Given the description of an element on the screen output the (x, y) to click on. 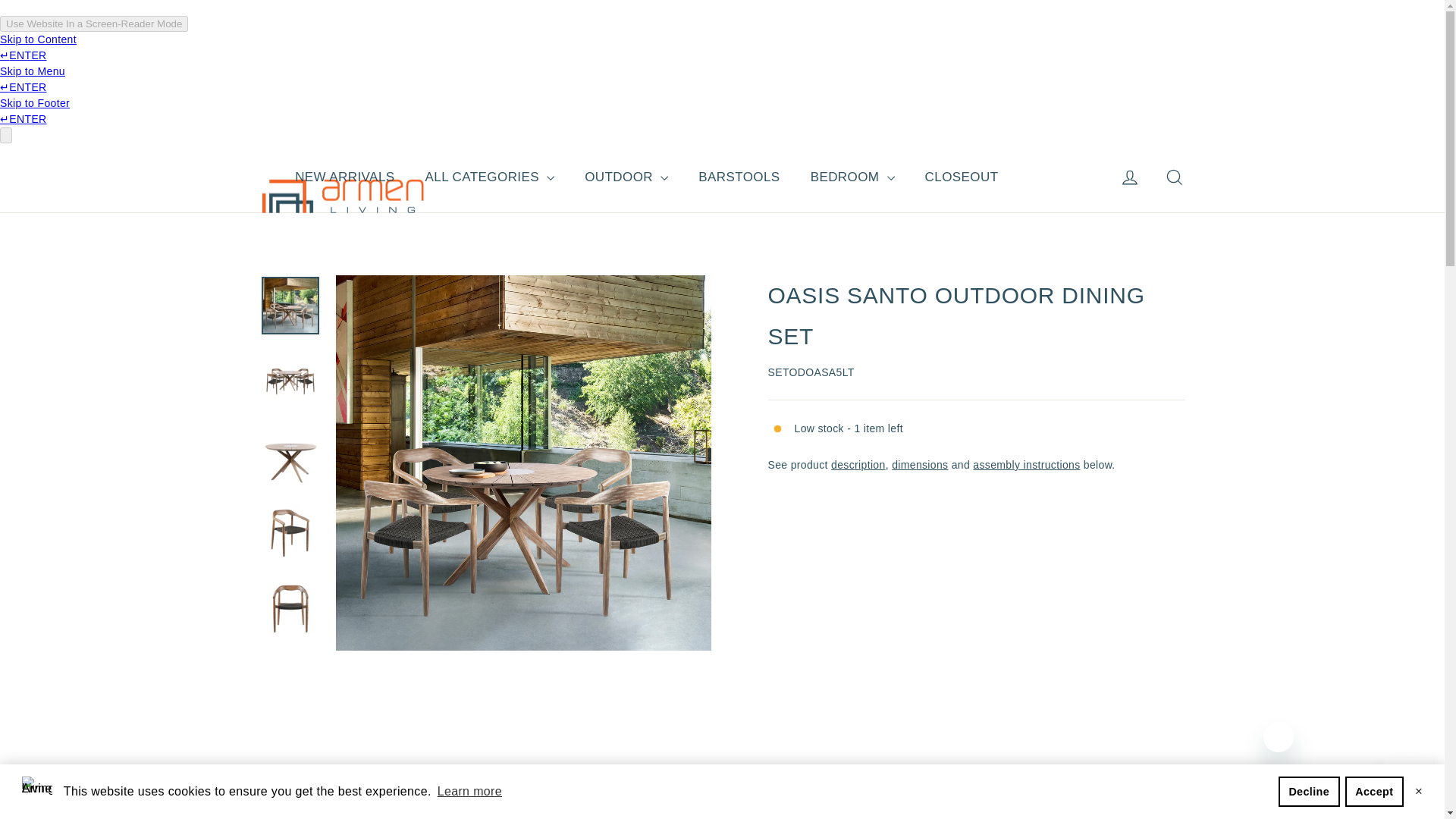
Learn more (468, 791)
Close message (1278, 736)
Decline (1308, 791)
Button to launch messaging window (1408, 782)
Accept (1374, 791)
